Given the description of an element on the screen output the (x, y) to click on. 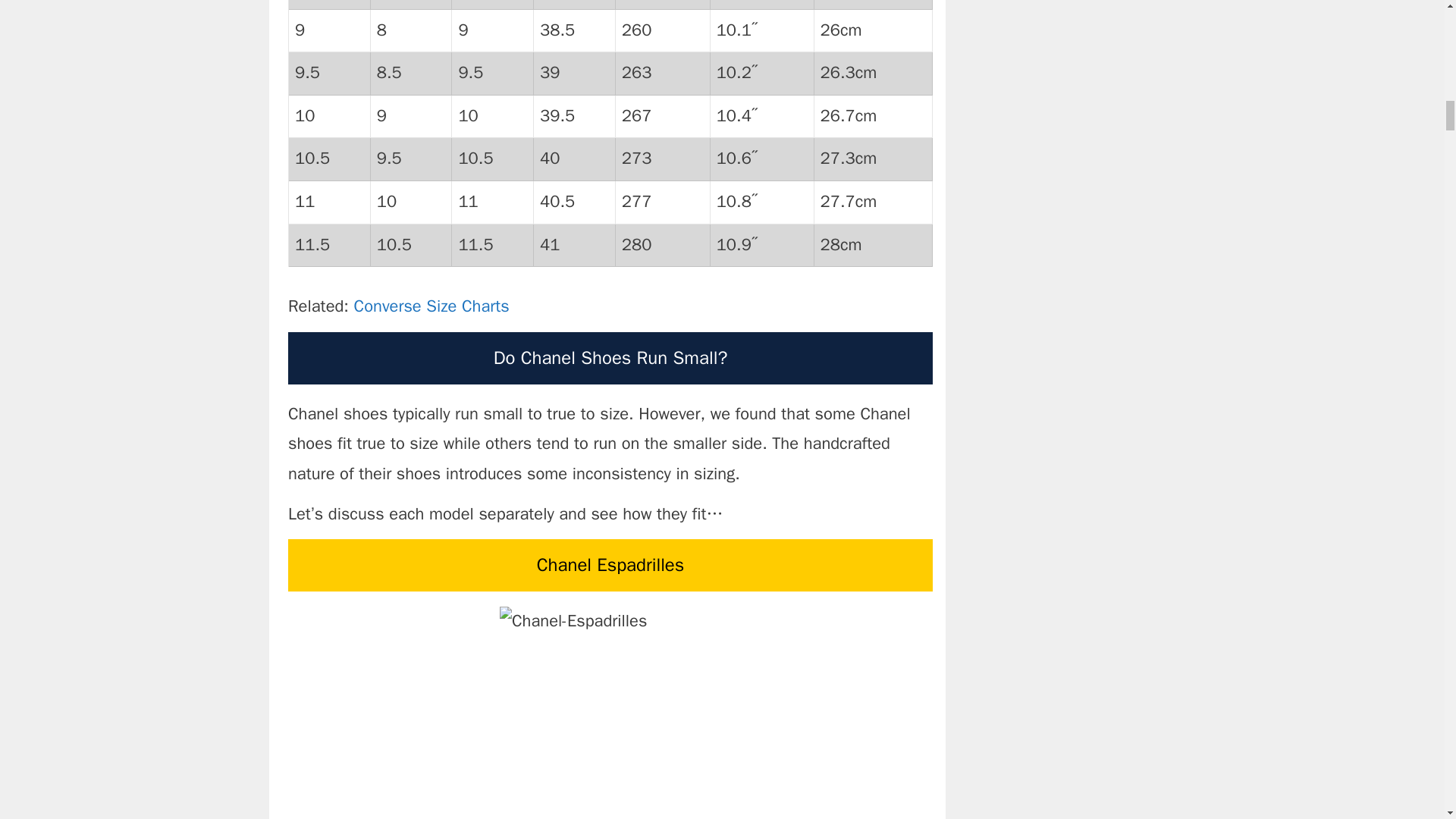
Converse Size Charts (431, 305)
